Given the description of an element on the screen output the (x, y) to click on. 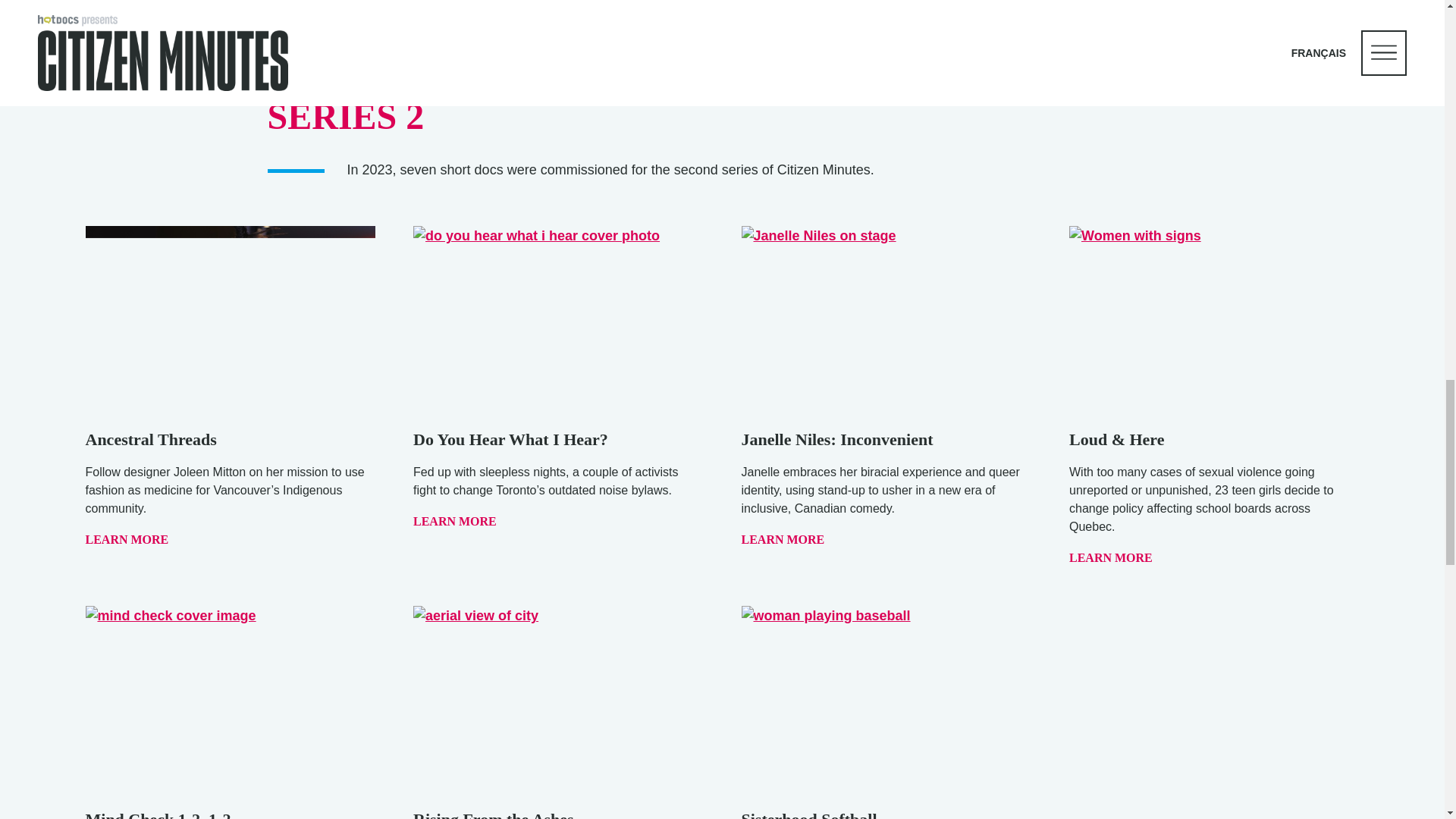
LEARN MORE (127, 539)
Do You Hear What I Hear? (510, 438)
LEARN MORE (456, 521)
Ancestral Threads (149, 438)
LEARN MORE (784, 539)
Janelle Niles: Inconvenient (837, 438)
